Given the description of an element on the screen output the (x, y) to click on. 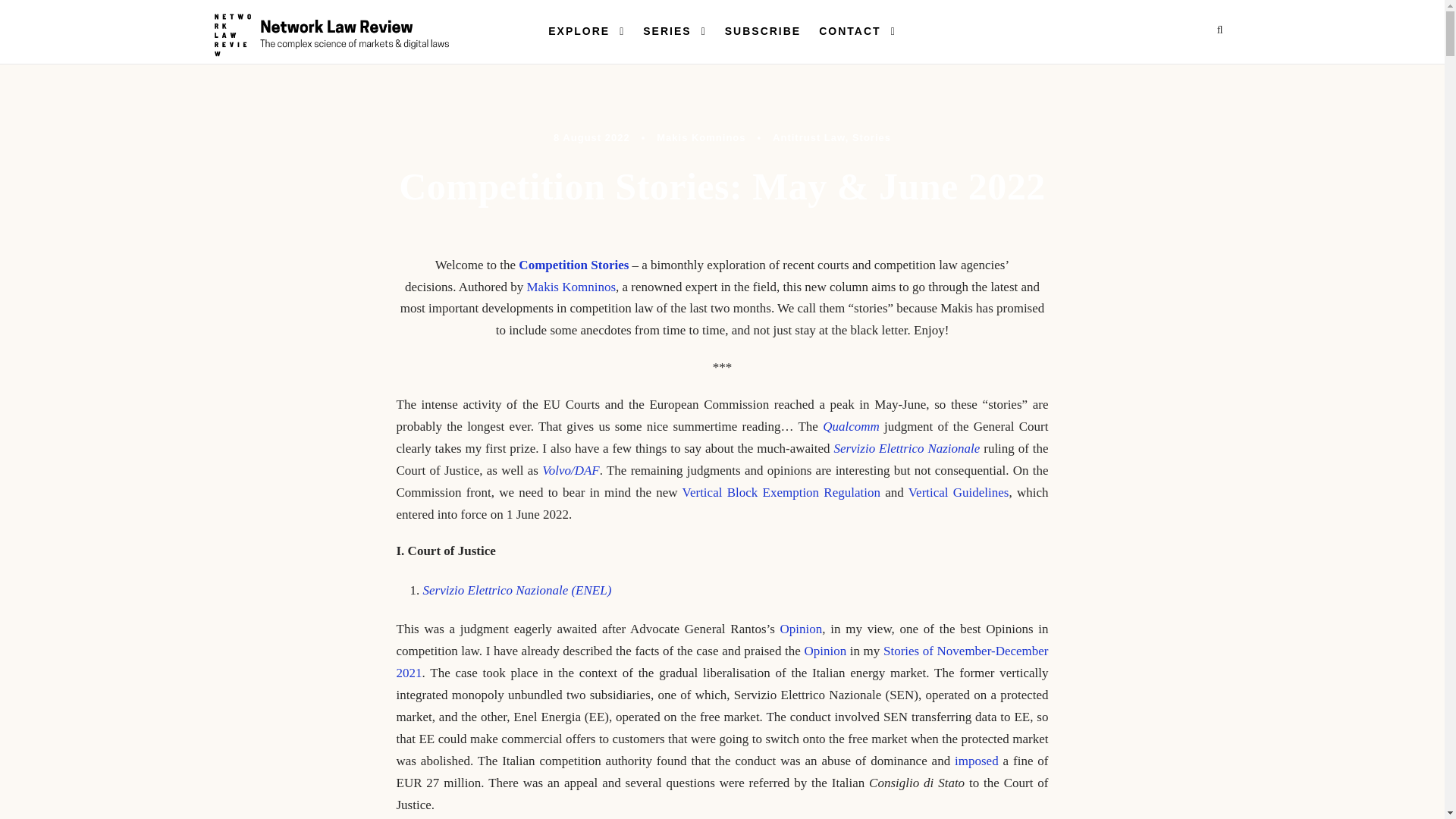
Qualcomm (850, 426)
SUBSCRIBE (762, 42)
8 August 2022 (591, 137)
Makis Komninos (570, 287)
Stories (871, 137)
Competition Stories (573, 264)
Makis Komninos (700, 137)
CONTACT (857, 42)
Vertical Guidelines (958, 492)
Posts by Makis Komninos (700, 137)
